Given the description of an element on the screen output the (x, y) to click on. 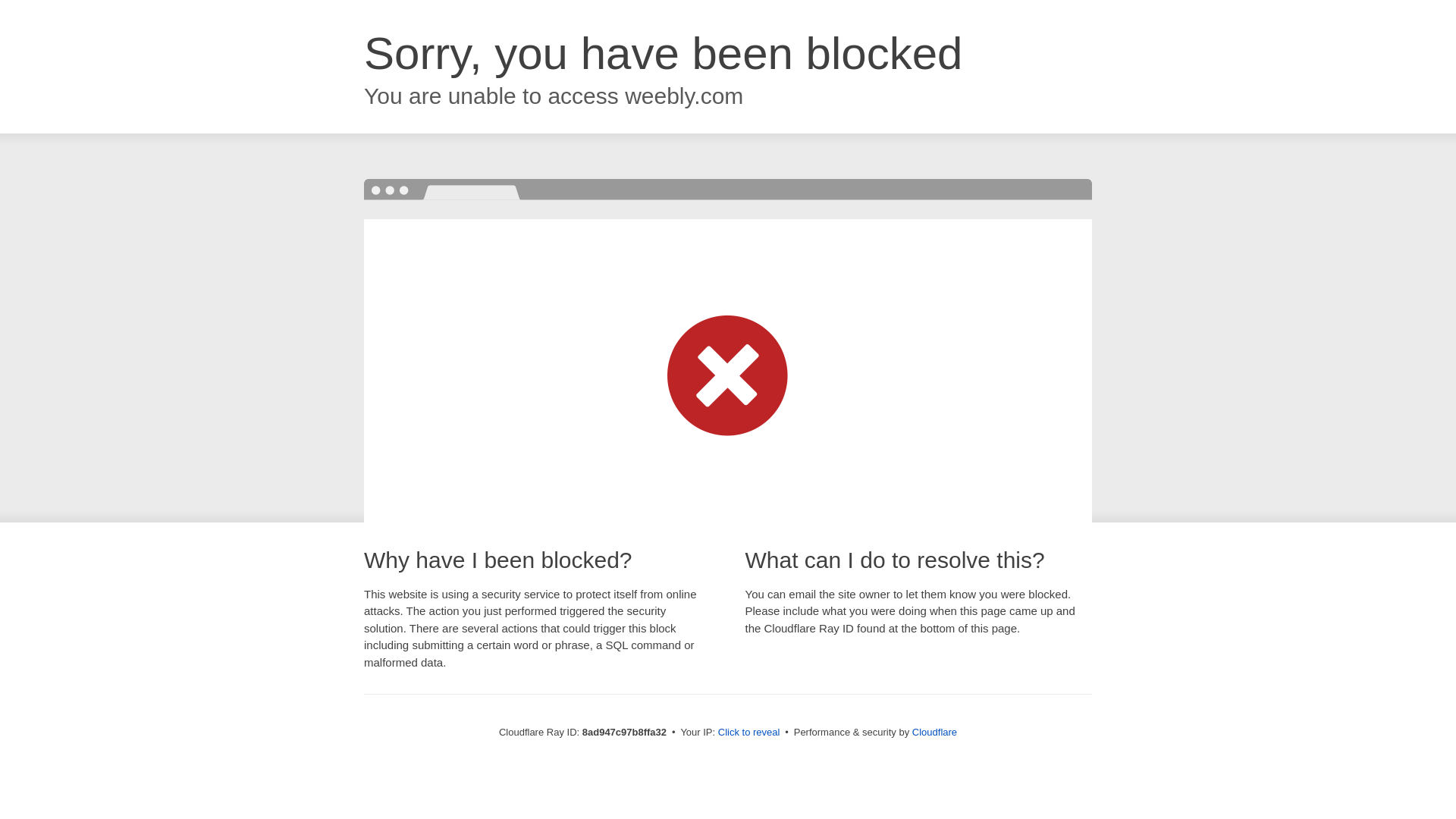
Click to reveal (748, 732)
Cloudflare (934, 731)
